Given the description of an element on the screen output the (x, y) to click on. 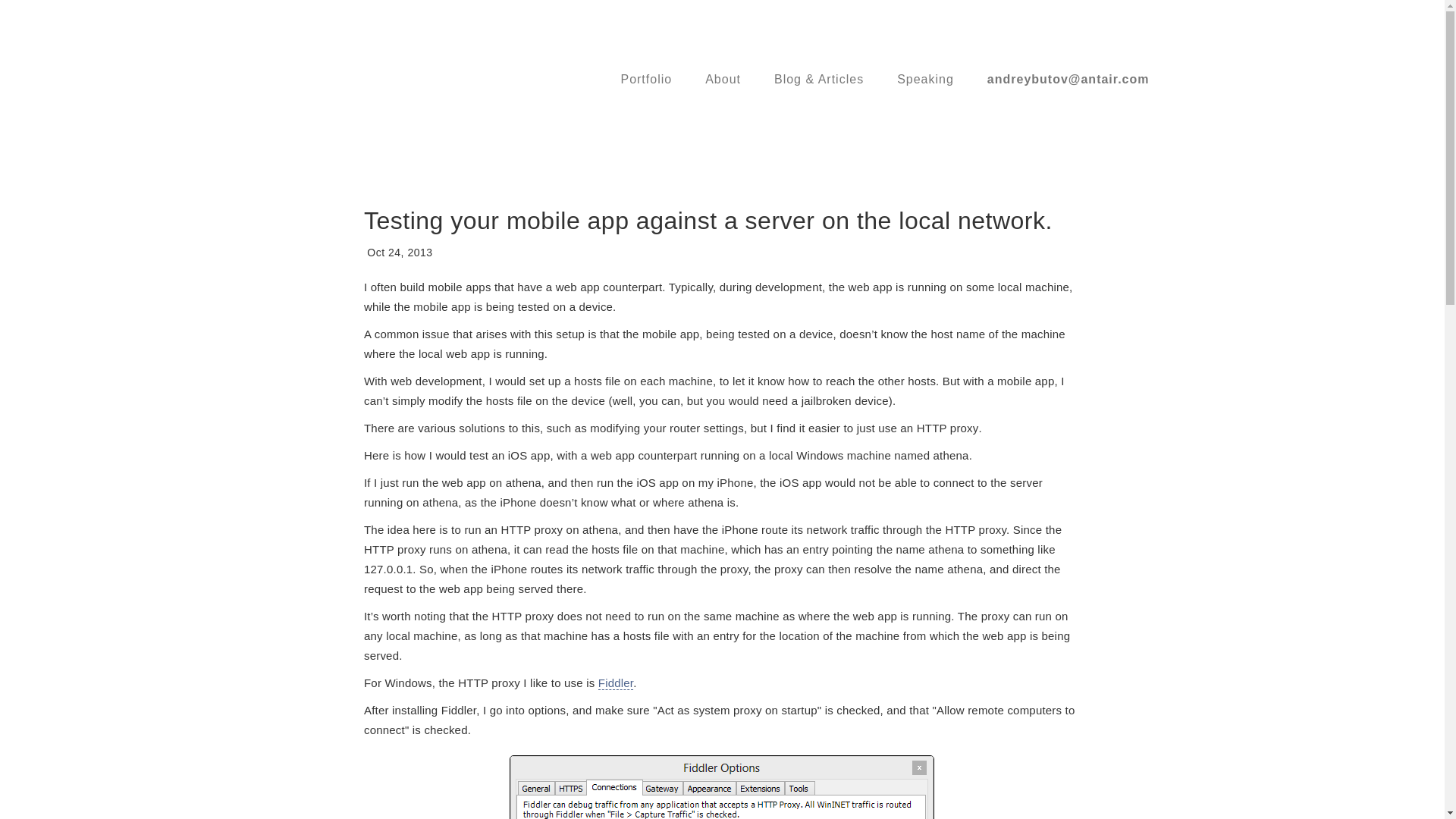
Speaking (925, 79)
About (722, 79)
Fiddler (615, 683)
Portfolio (646, 79)
